Given the description of an element on the screen output the (x, y) to click on. 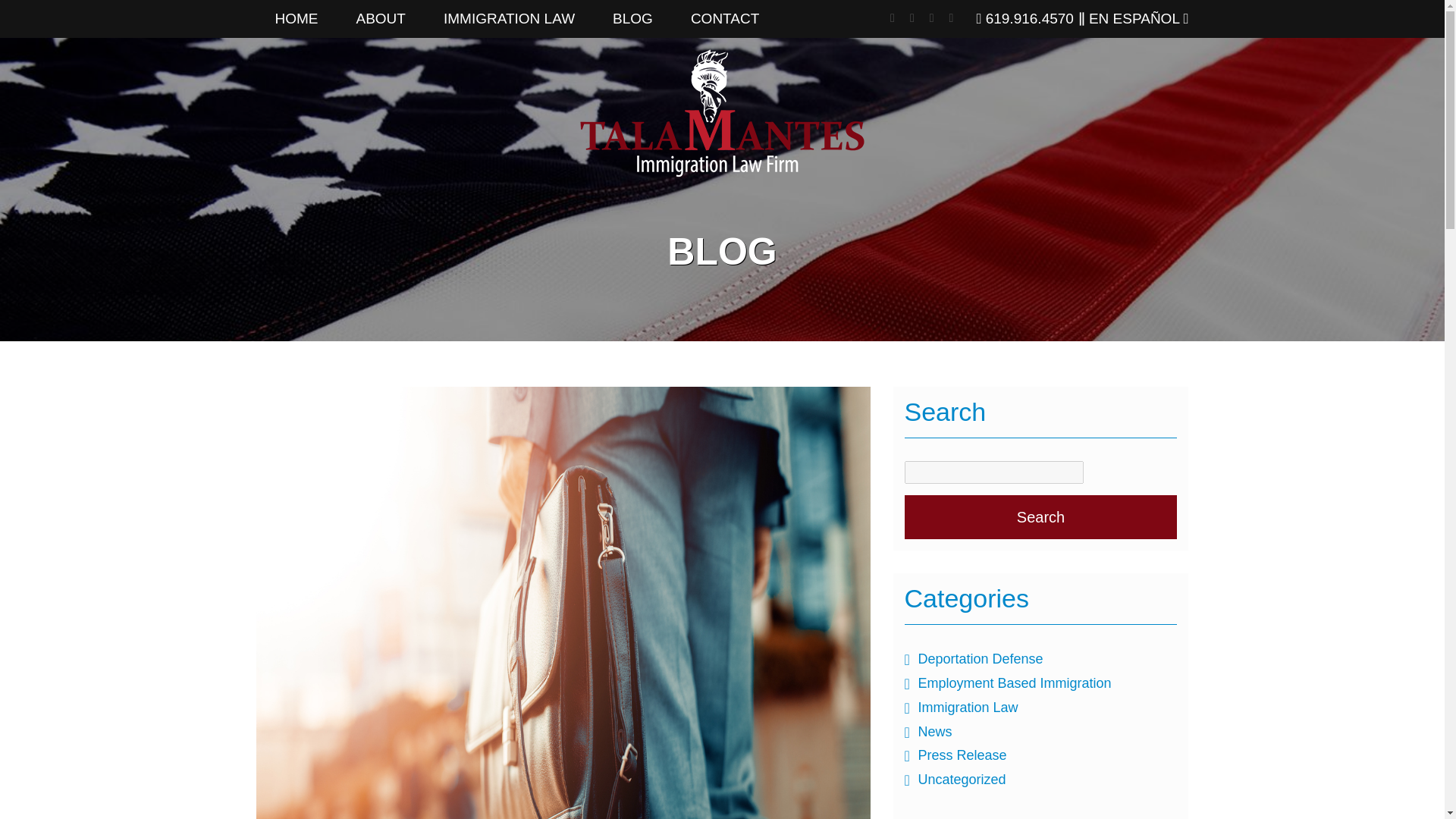
Employment Based Immigration (1013, 683)
ABOUT (379, 18)
CONTACT (724, 18)
Press Release (961, 754)
619.916.4570 (1024, 18)
News (934, 731)
IMMIGRATION LAW (509, 18)
Immigration Law (967, 707)
BLOG (632, 18)
Uncategorized (961, 779)
HOME (296, 18)
Search (1040, 516)
Deportation Defense (979, 658)
Search (1040, 516)
